Given the description of an element on the screen output the (x, y) to click on. 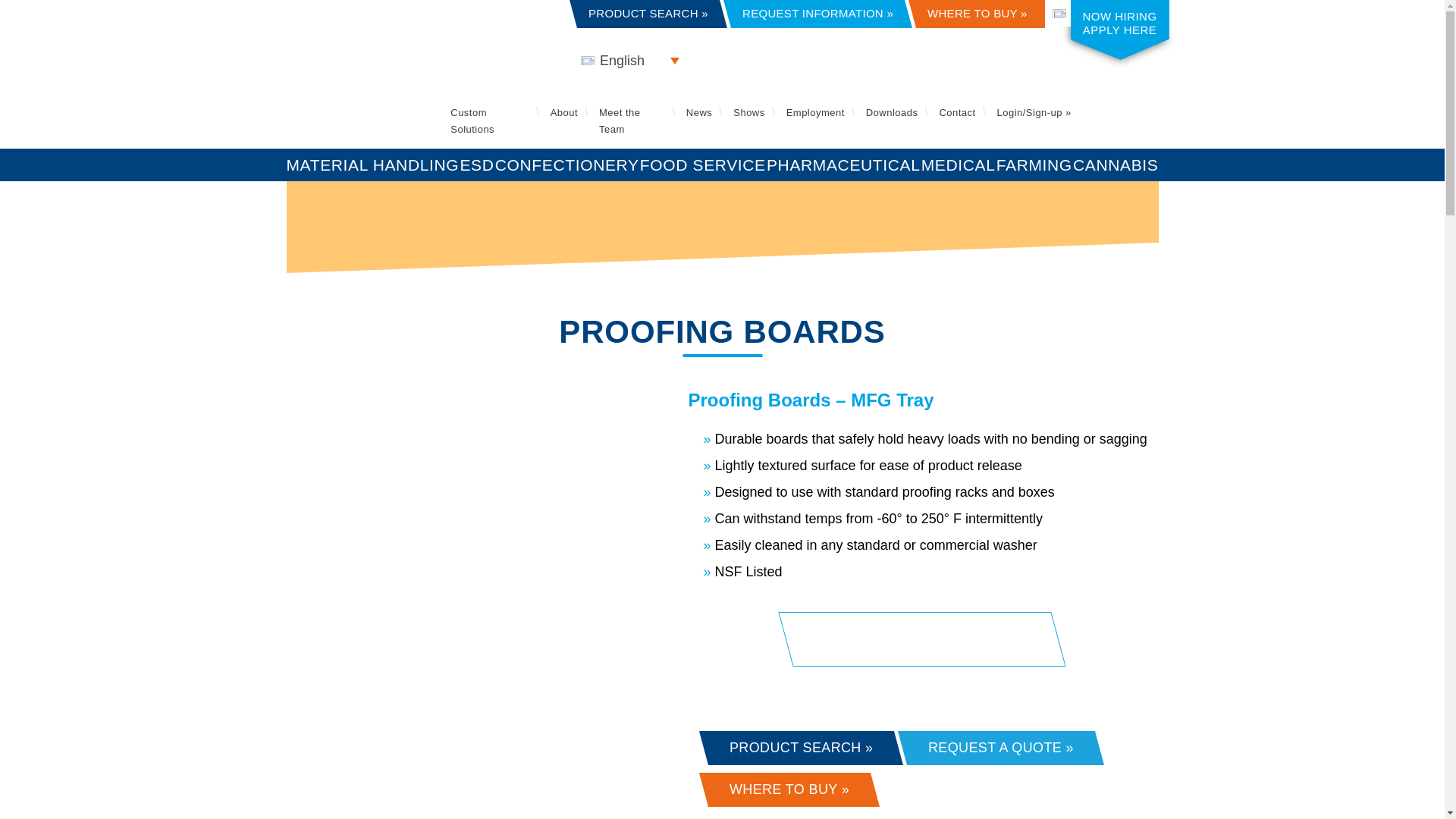
About (564, 112)
Meet the Team (619, 121)
Contact (957, 112)
News (698, 112)
English (1101, 13)
Downloads (892, 112)
MATERIAL HANDLING (373, 164)
Employment (815, 112)
Custom Solutions (472, 121)
Shows (748, 112)
